Given the description of an element on the screen output the (x, y) to click on. 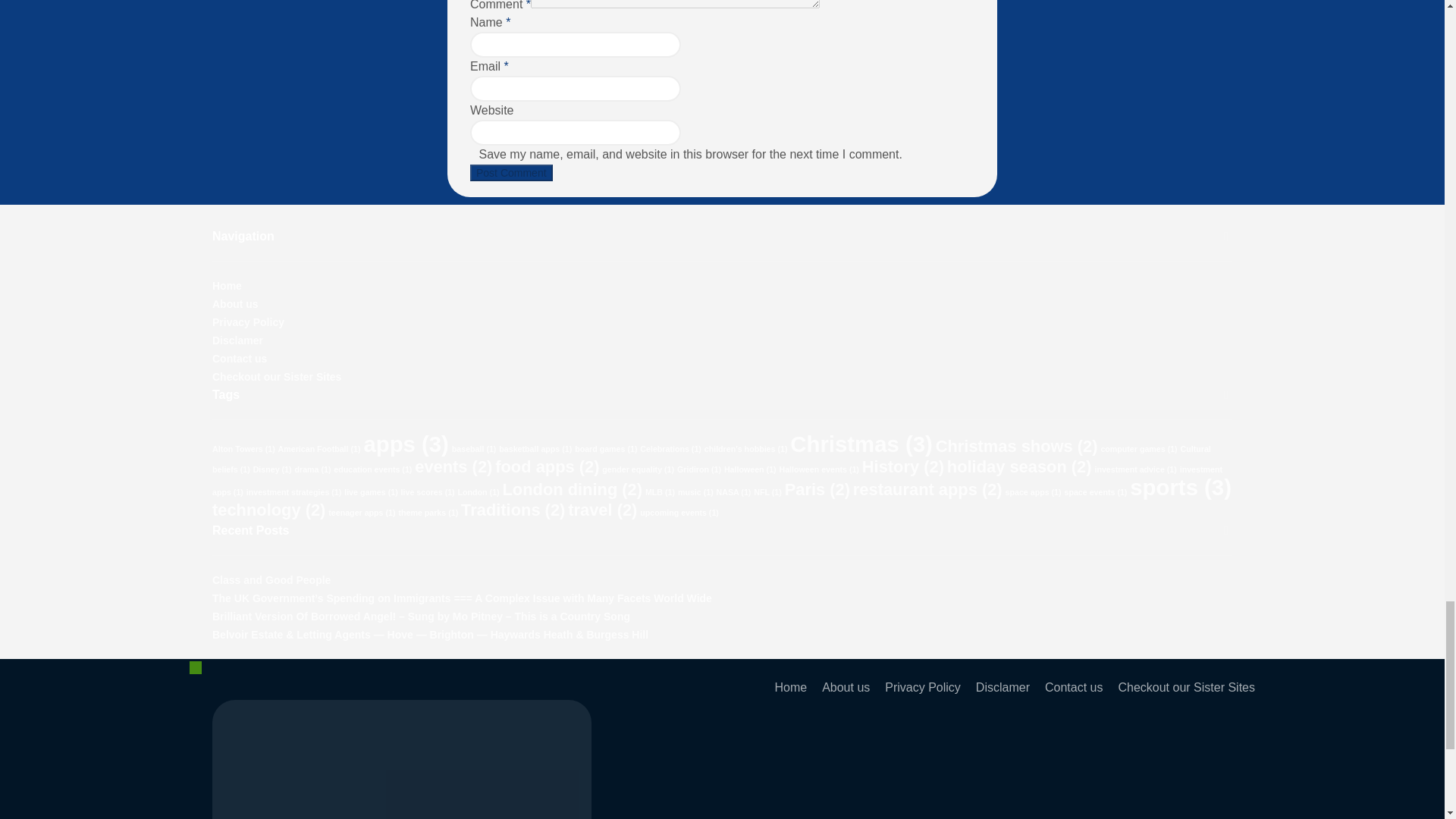
Post Comment (511, 172)
